Given the description of an element on the screen output the (x, y) to click on. 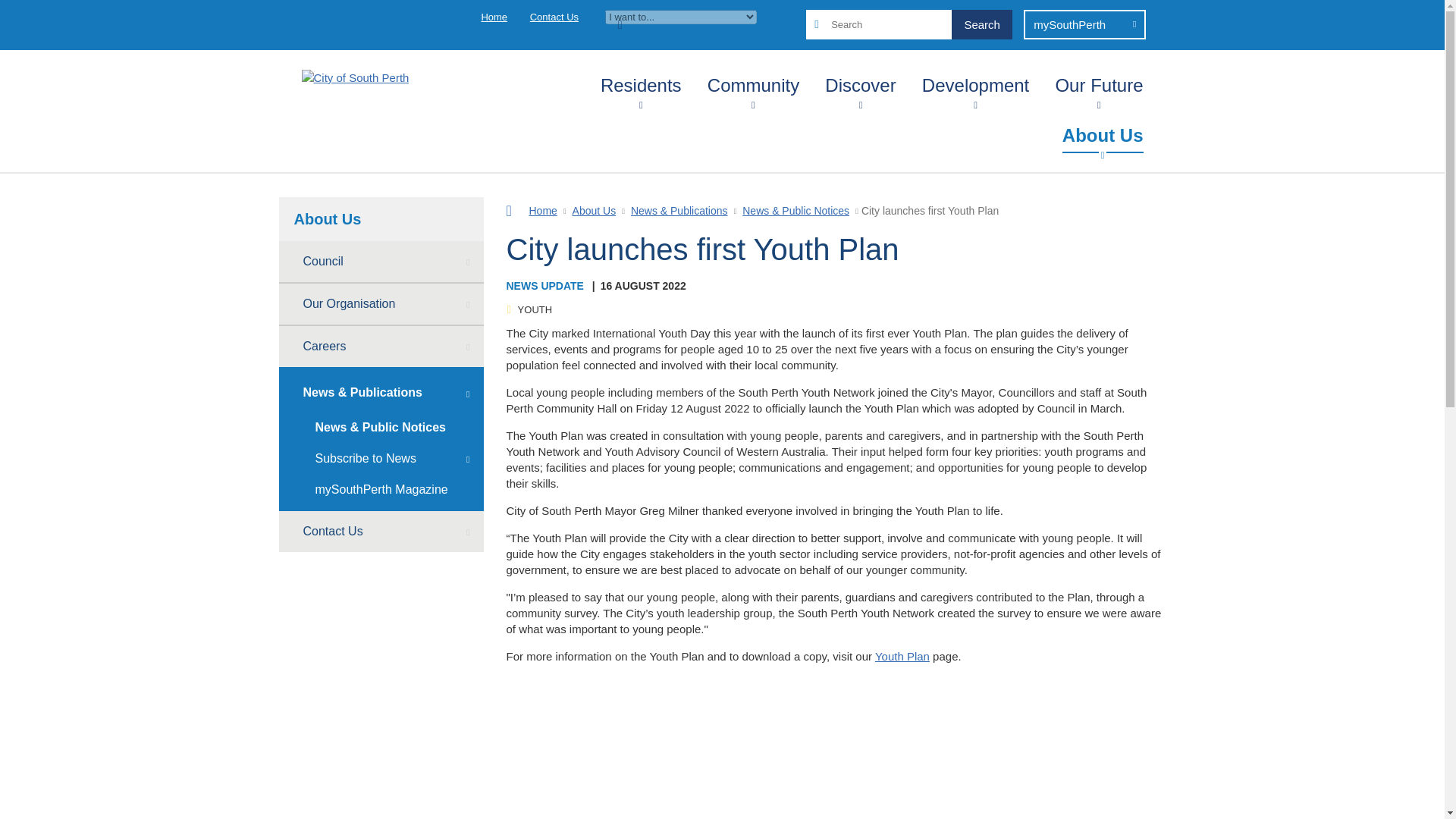
Home (493, 17)
I want to... (681, 16)
Contact Us (553, 17)
mySouthPerth (1084, 24)
YouTube video player (836, 758)
Search input (908, 24)
Residents (640, 82)
Search (981, 24)
